Given the description of an element on the screen output the (x, y) to click on. 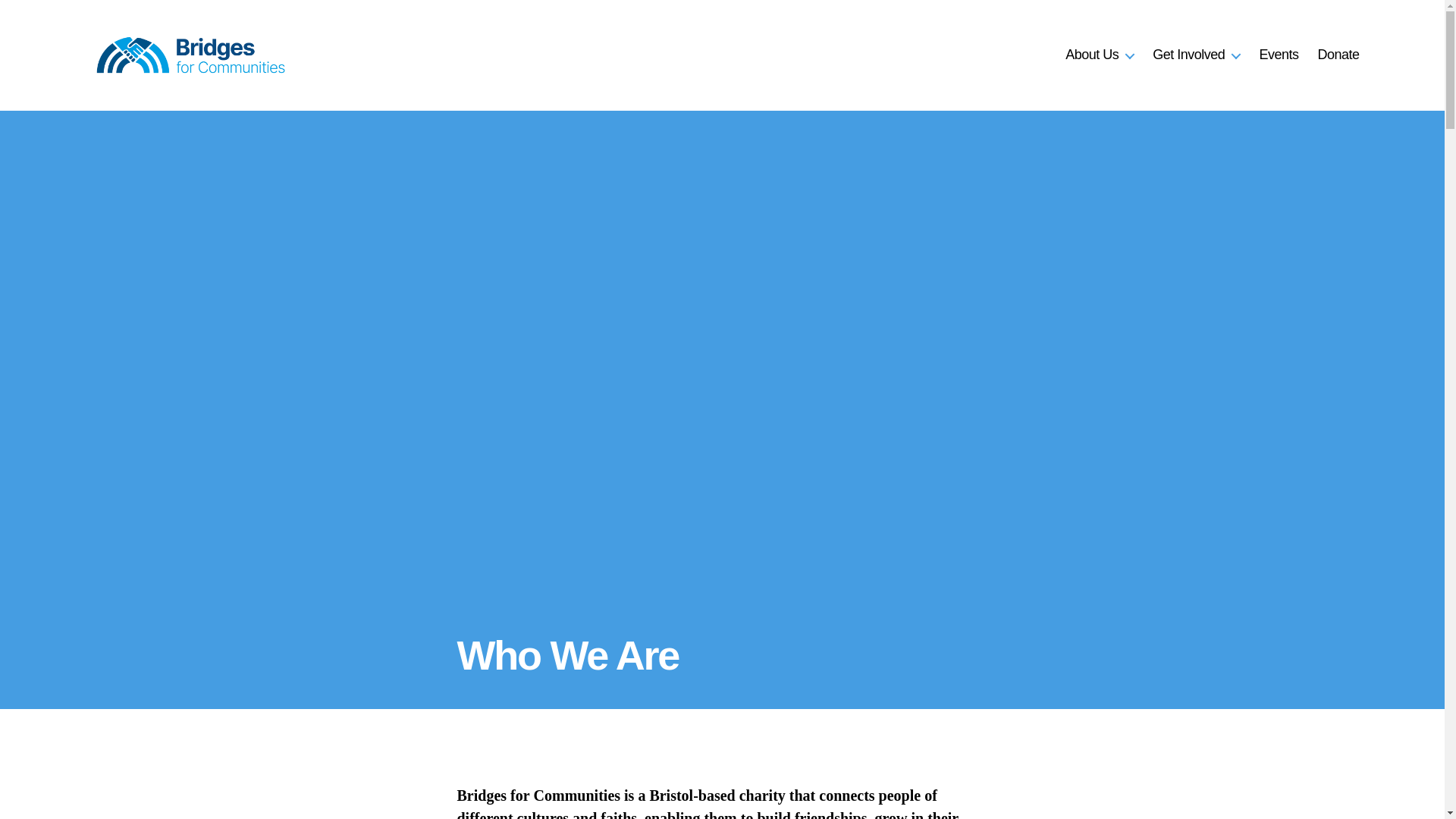
Events (1278, 54)
About Us (1099, 54)
Get Involved (1196, 54)
Donate (1337, 54)
